Given the description of an element on the screen output the (x, y) to click on. 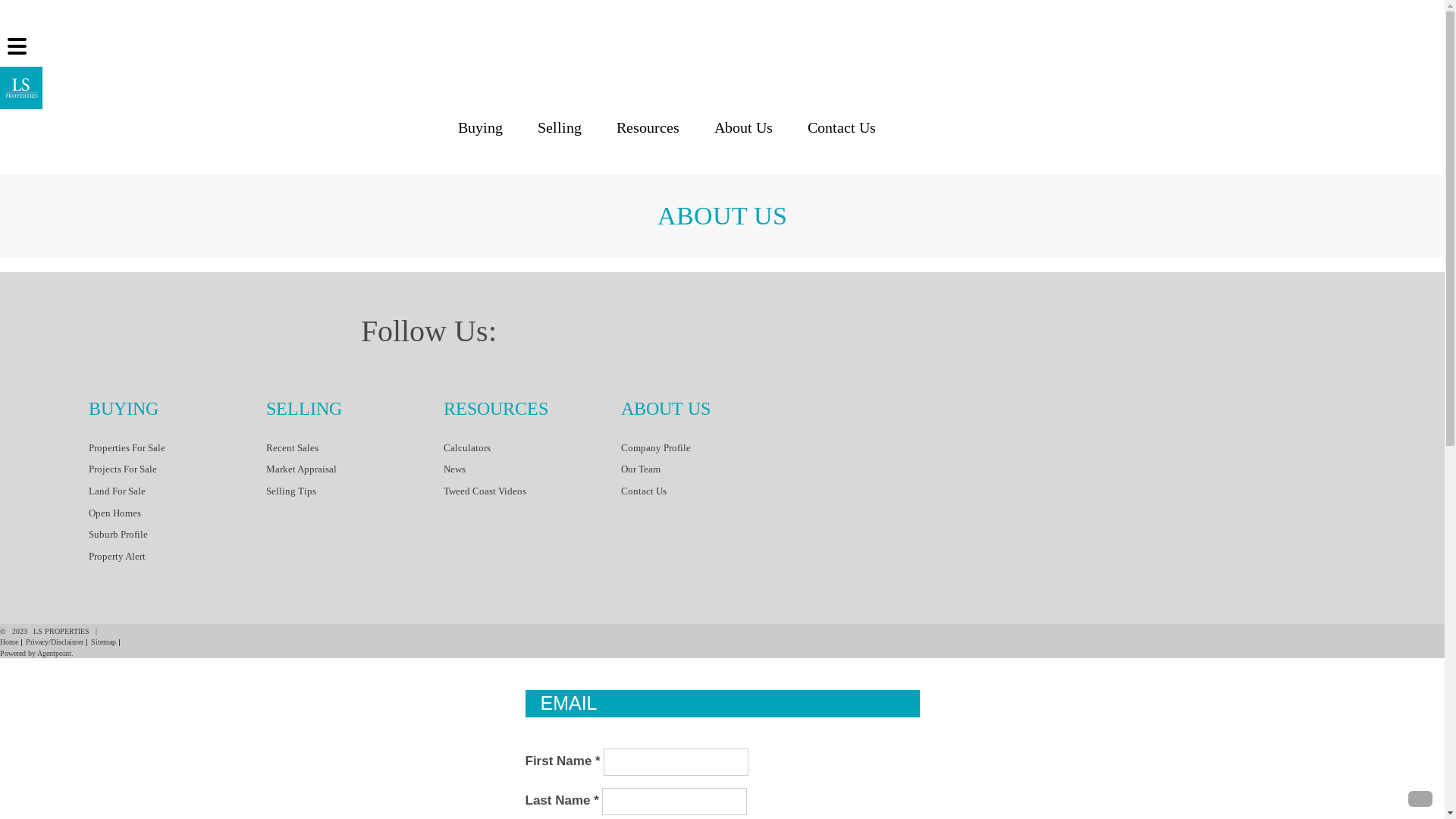
Contact Us Element type: text (841, 127)
Resources Element type: text (647, 127)
Sitemap Element type: text (103, 641)
Our Team Element type: text (709, 469)
Privacy/Disclaimer Element type: text (54, 641)
Agentpoint Element type: text (54, 652)
Projects For Sale Element type: text (177, 469)
SELLING Element type: text (354, 409)
BUYING Element type: text (177, 409)
Suburb Profile Element type: text (177, 534)
Contact Us Element type: text (709, 491)
Selling Tips Element type: text (354, 491)
ABOUT US Element type: text (709, 409)
Market Appraisal Element type: text (354, 469)
Calculators Element type: text (532, 448)
Company Profile Element type: text (709, 448)
Open Homes Element type: text (177, 513)
About Us Element type: text (743, 127)
Property Alert Element type: text (177, 556)
Buying Element type: text (480, 127)
Tweed Coast Videos Element type: text (532, 491)
RESOURCES Element type: text (532, 409)
Home Element type: text (9, 641)
Land For Sale Element type: text (177, 491)
Selling Element type: text (559, 127)
Properties For Sale Element type: text (177, 448)
News Element type: text (532, 469)
Recent Sales Element type: text (354, 448)
